Given the description of an element on the screen output the (x, y) to click on. 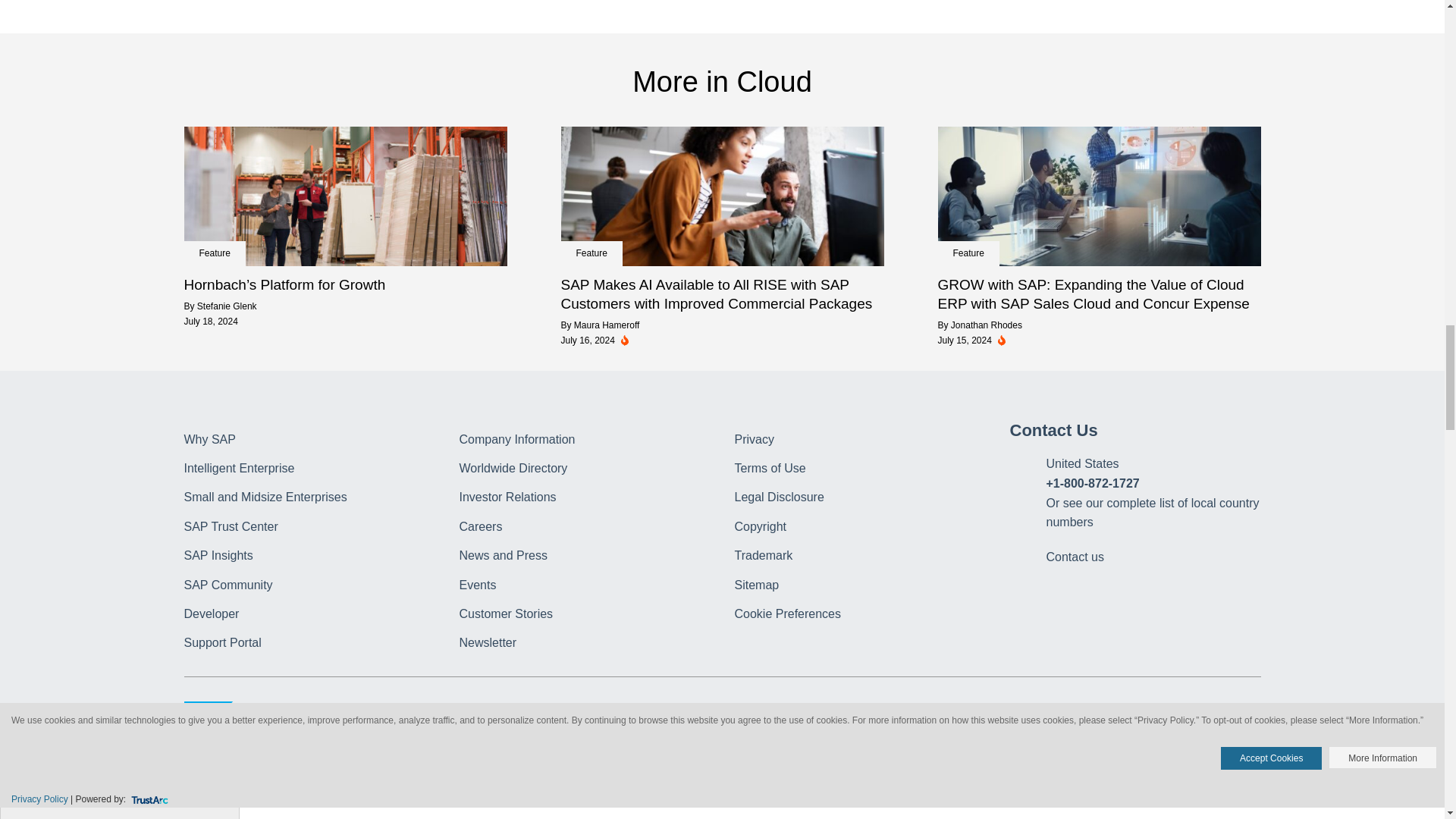
Intelligent Enterprise (238, 468)
SAP Trust Center (230, 526)
Posts by Stefanie Glenk (226, 306)
Feature (968, 253)
Stefanie Glenk (226, 306)
Small and Midsize Enterprises (264, 496)
Maura Hameroff (606, 325)
Developer (210, 613)
Posts by Maura Hameroff (606, 325)
Why SAP (208, 439)
Support Portal (221, 642)
Posts by Jonathan Rhodes (986, 325)
Jonathan Rhodes (986, 325)
Feature (214, 253)
